Given the description of an element on the screen output the (x, y) to click on. 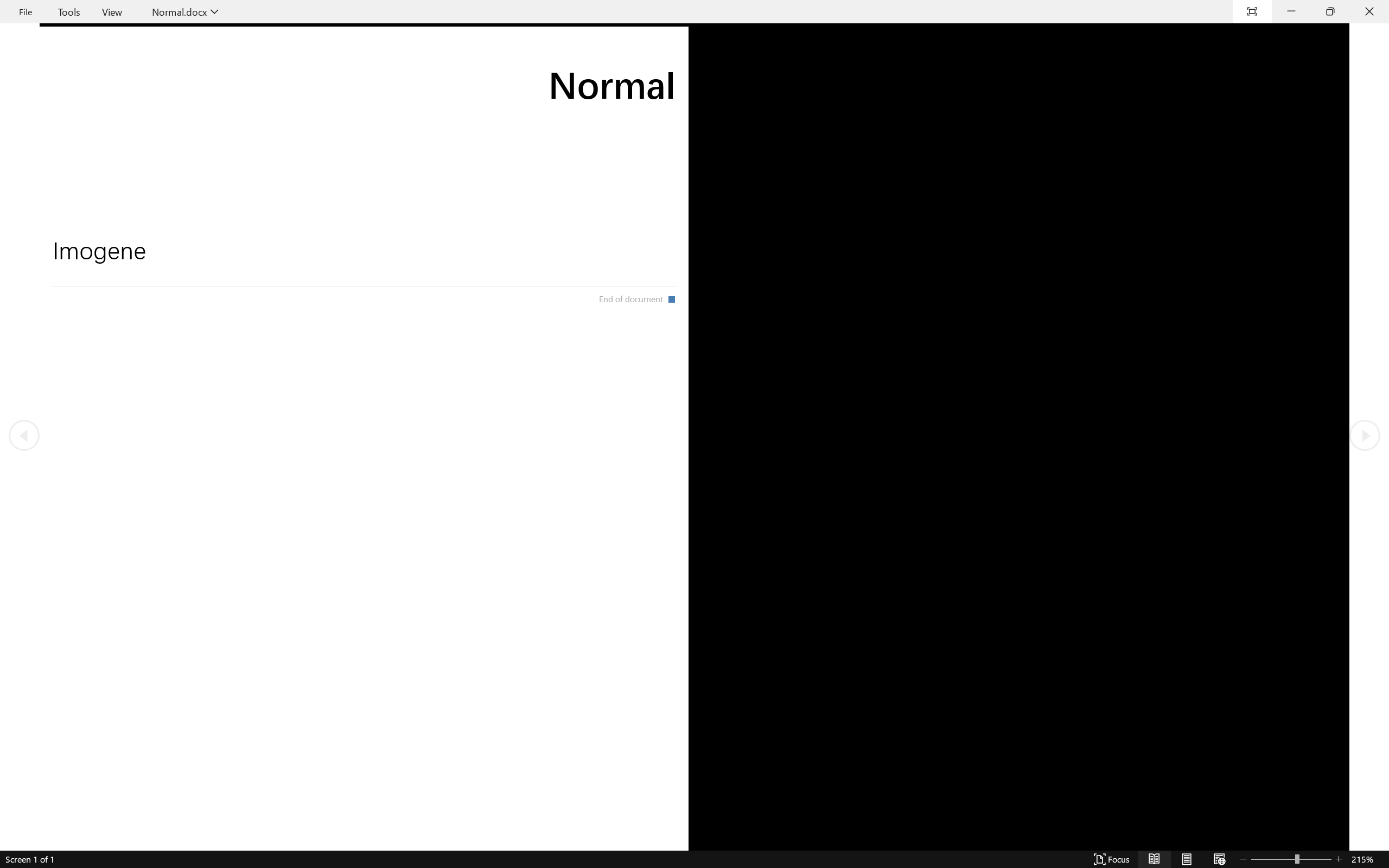
Strikethrough (225, 71)
Align Right (360, 71)
Line Spacing (413, 52)
Line Arrow (550, 48)
Connector: Elbow Arrow (550, 60)
Layout (137, 47)
Rectangle: Rounded Corners (518, 60)
